Given the description of an element on the screen output the (x, y) to click on. 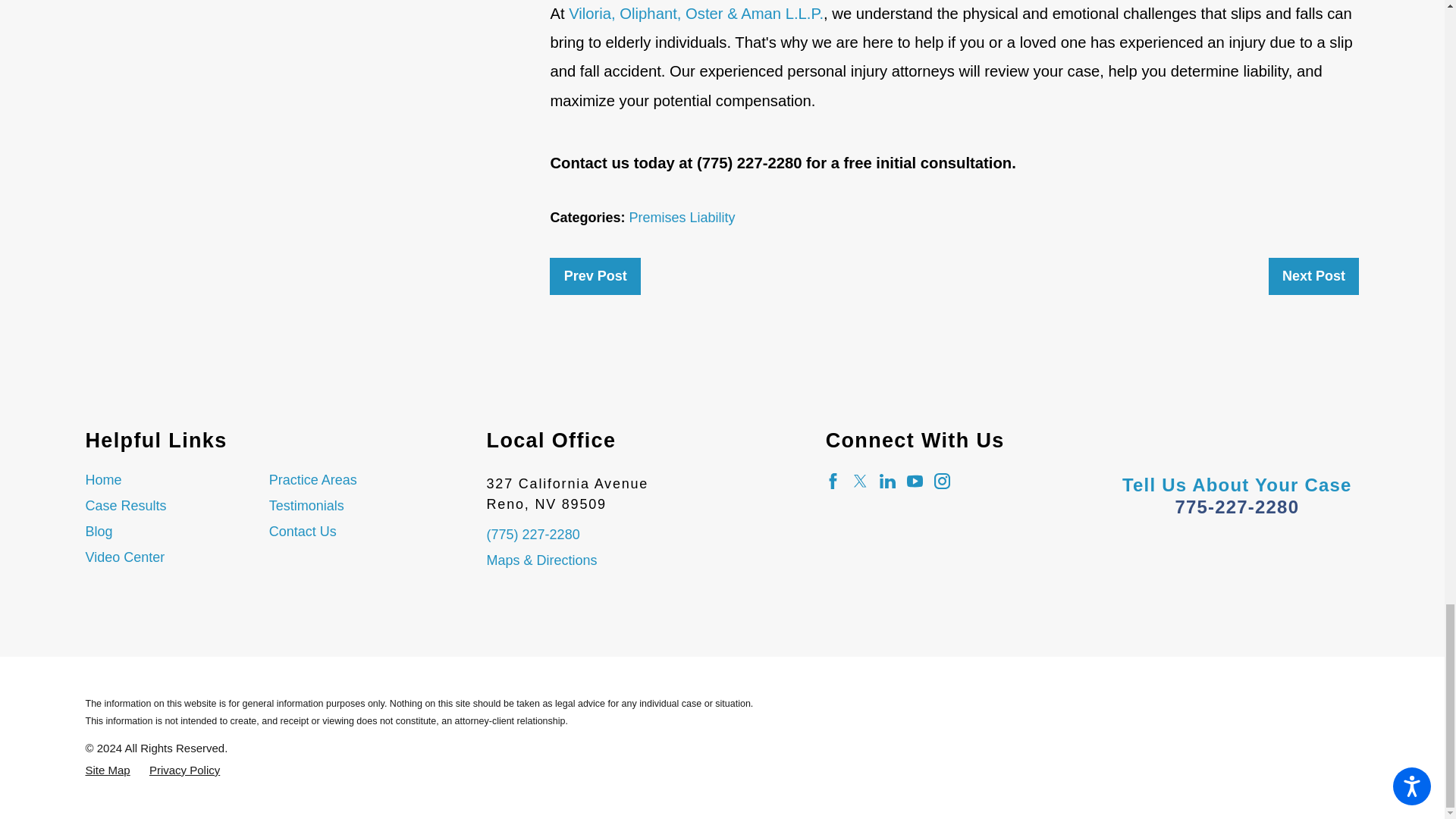
YouTube (915, 480)
LinkedIn (887, 480)
Instagram (942, 480)
Facebook (833, 480)
Twitter (859, 480)
